Given the description of an element on the screen output the (x, y) to click on. 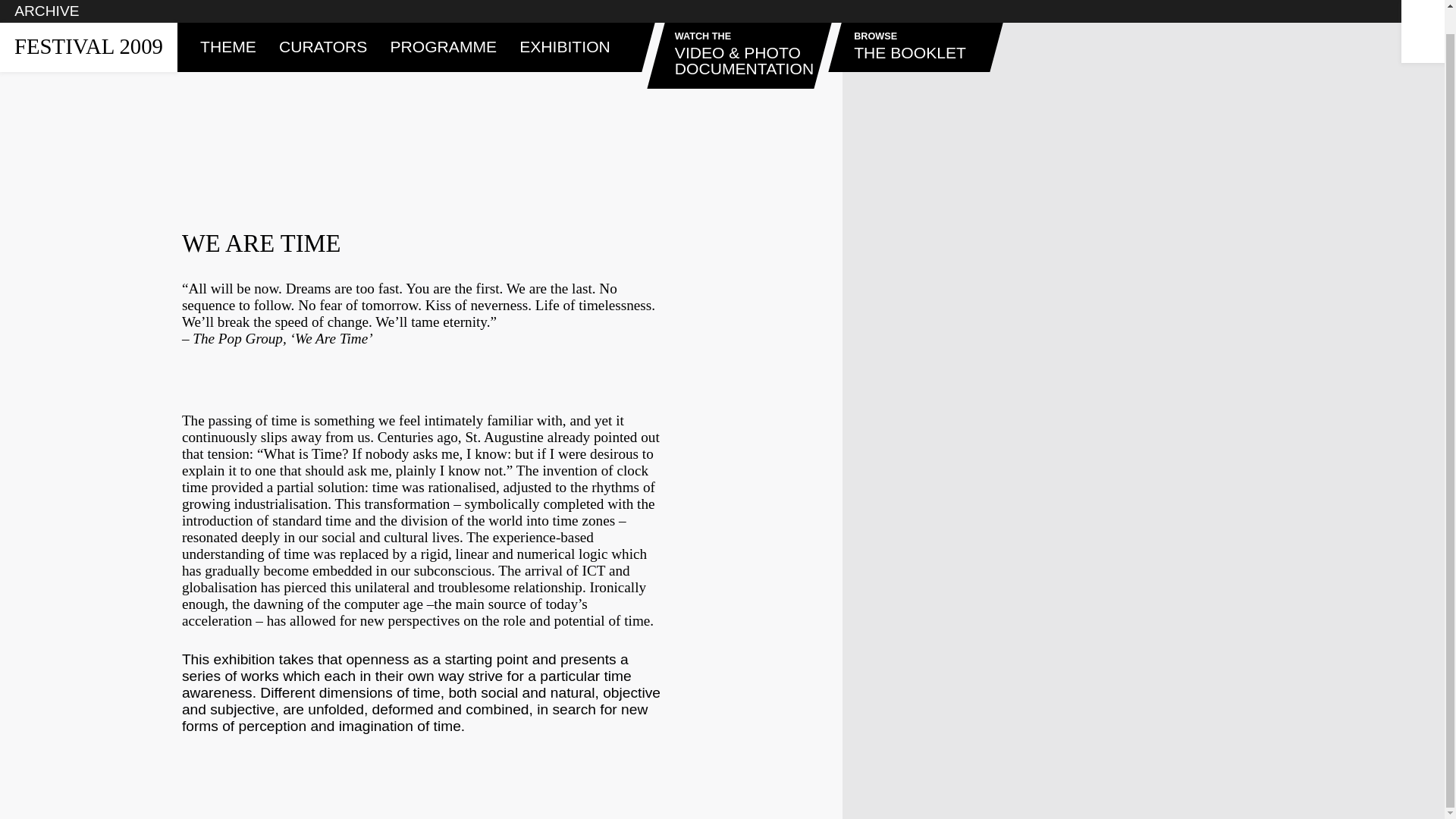
FESTIVAL 2009 (914, 32)
PROGRAMME (88, 21)
EXHIBITION (443, 22)
THEME (564, 22)
CURATORS (228, 22)
